Given the description of an element on the screen output the (x, y) to click on. 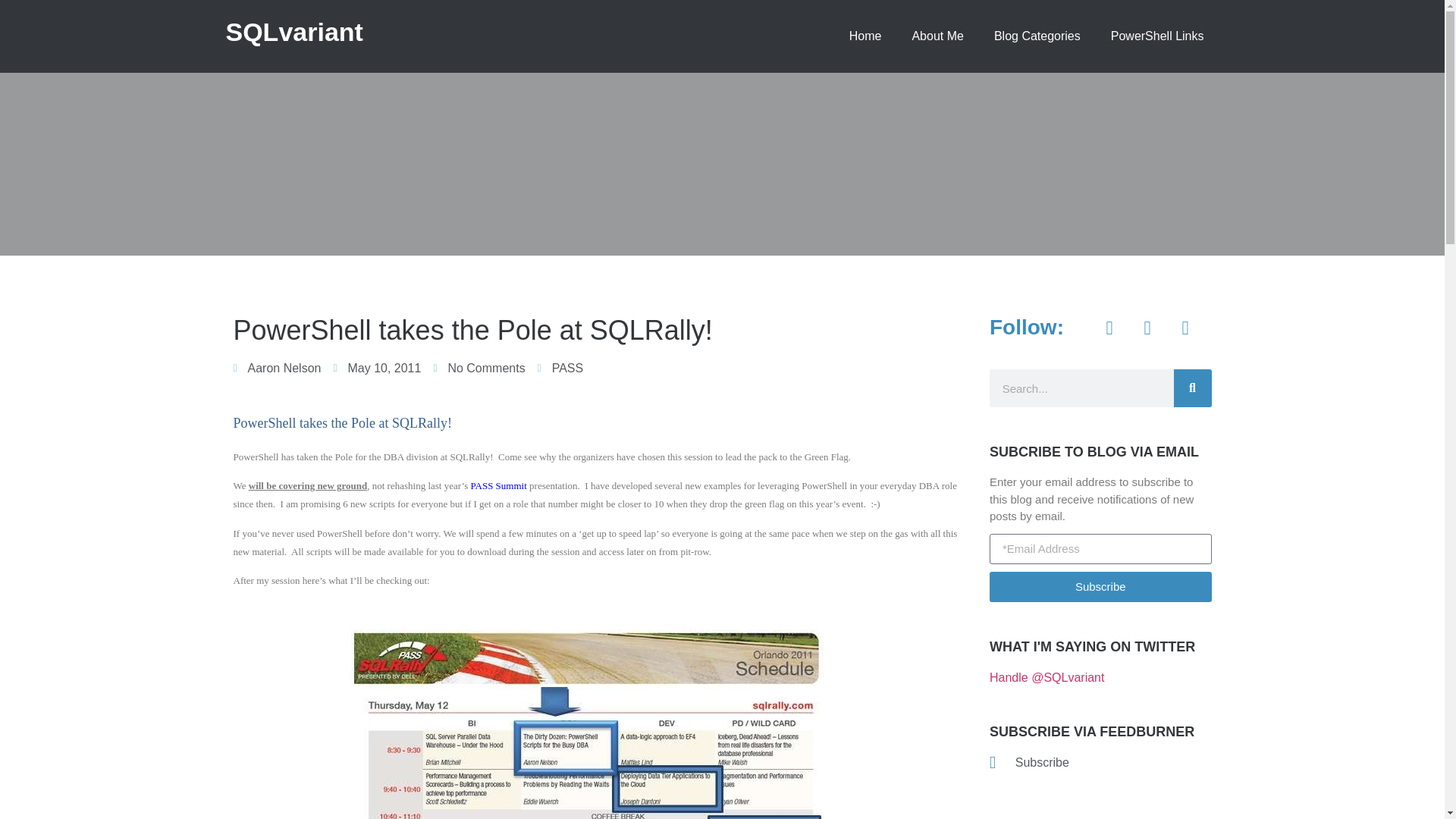
Blog Categories (1037, 36)
Home (865, 36)
PowerShell Links (1158, 36)
About Me (937, 36)
SQLvariant (293, 31)
